Given the description of an element on the screen output the (x, y) to click on. 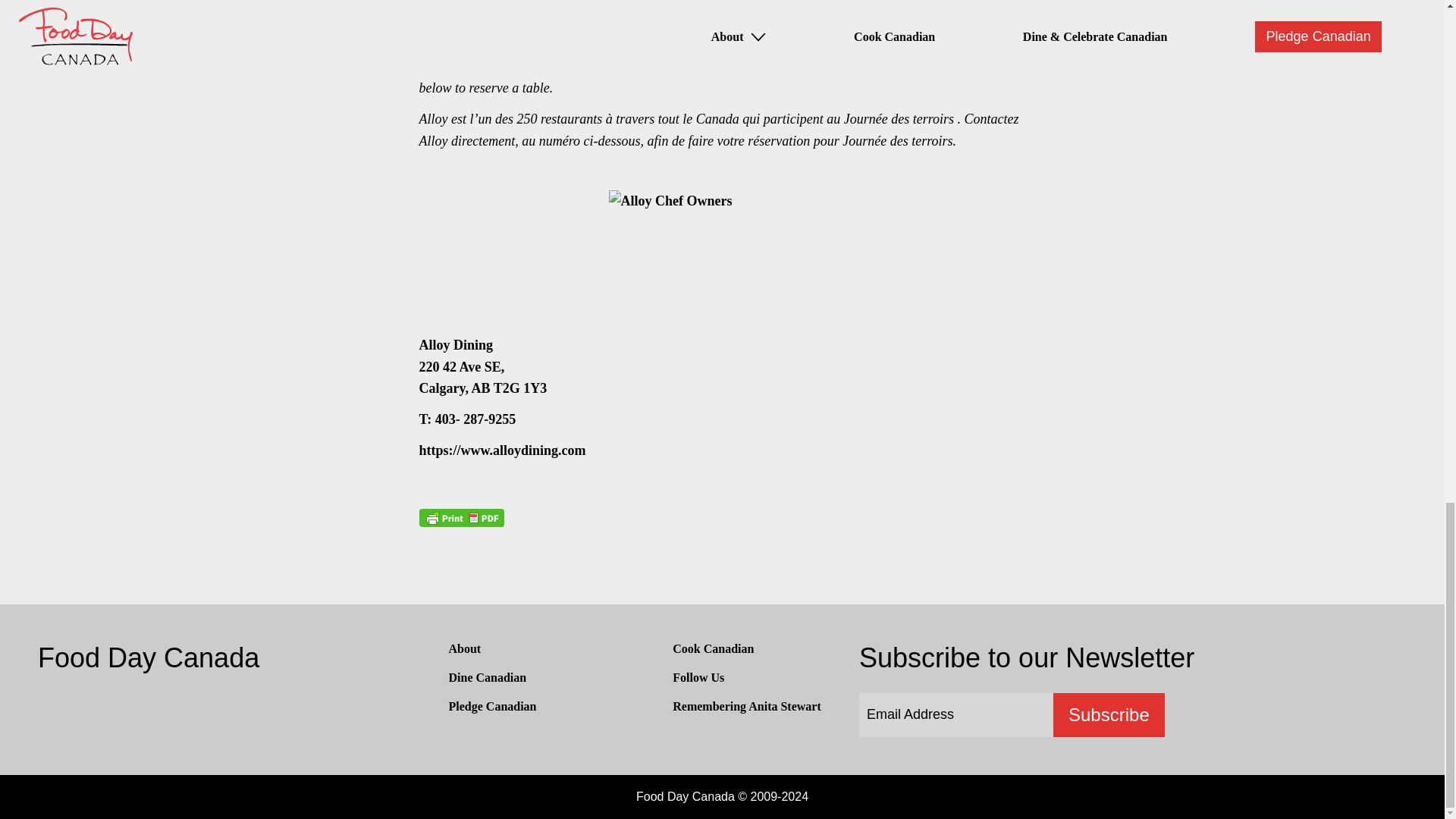
Cook Canadian (713, 648)
About (464, 648)
Subscribe (1108, 714)
Remembering Anita Stewart (746, 706)
Alloy Dining (502, 450)
Pledge Canadian (492, 706)
Follow Us (697, 676)
Dine Canadian (487, 676)
